Given the description of an element on the screen output the (x, y) to click on. 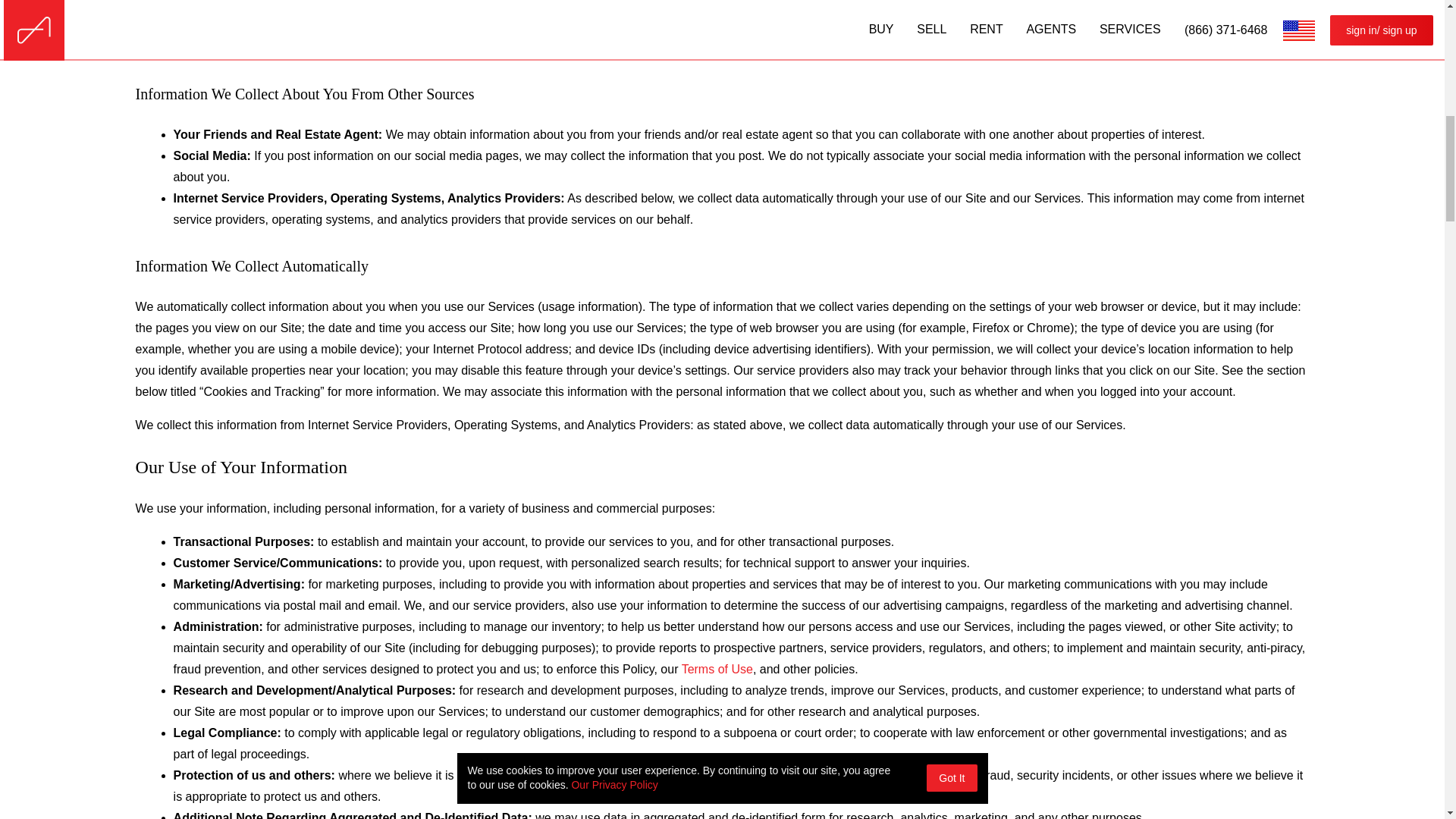
Terms of Use (716, 669)
Terms of Use (716, 669)
